Given the description of an element on the screen output the (x, y) to click on. 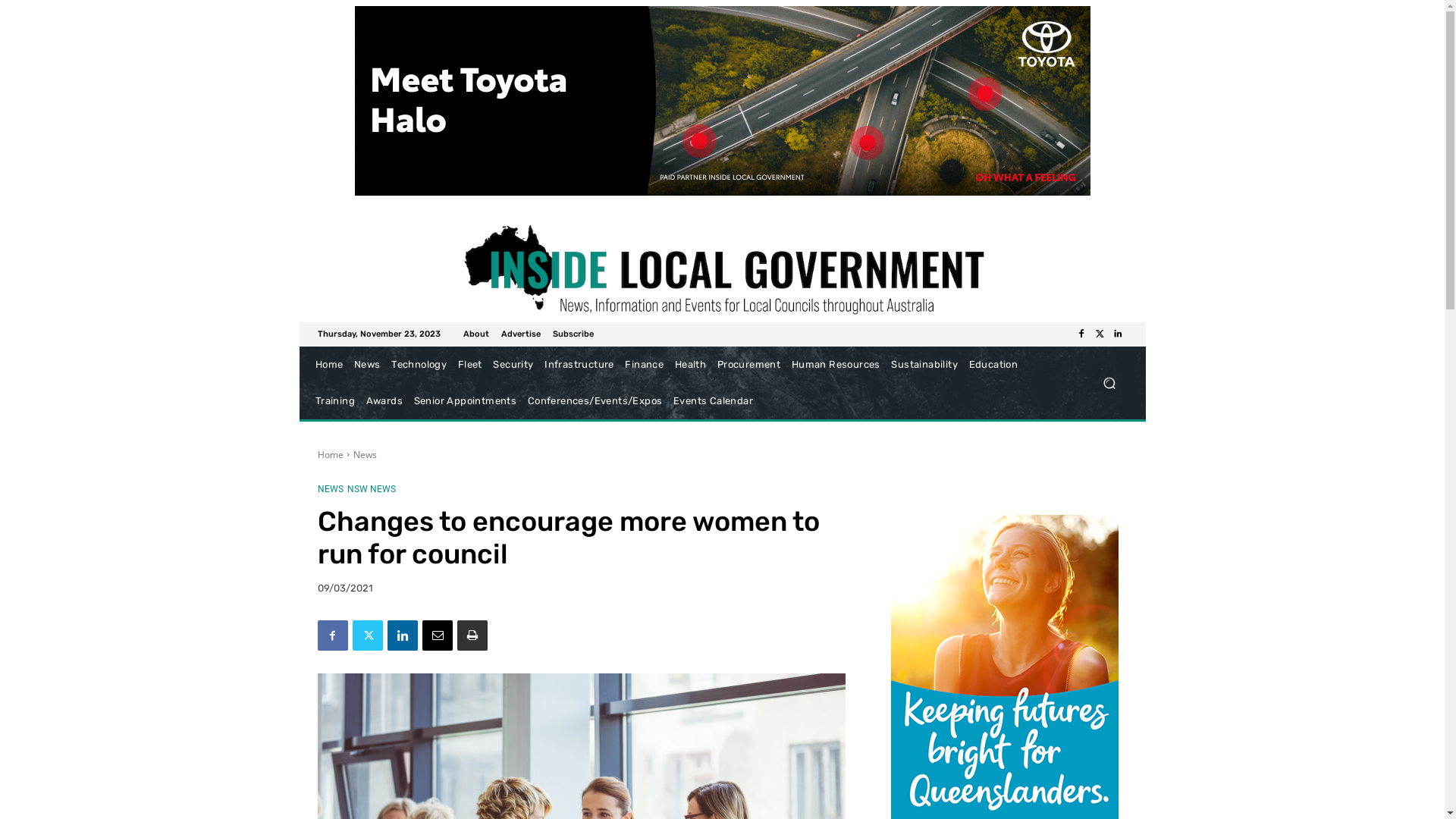
Email Element type: hover (436, 635)
Facebook Element type: hover (331, 635)
Technology Element type: text (418, 364)
Print Element type: hover (471, 635)
Twitter Element type: hover (366, 635)
Senior Appointments Element type: text (464, 400)
Home Element type: text (329, 454)
News Element type: text (366, 364)
Advertise Element type: text (519, 333)
NEWS Element type: text (329, 488)
Awards Element type: text (383, 400)
Sustainability Element type: text (924, 364)
Education Element type: text (992, 364)
Facebook Element type: hover (1081, 334)
Security Element type: text (513, 364)
About Element type: text (475, 333)
Subscribe Element type: text (572, 333)
Training Element type: text (334, 400)
3rd party ad content Element type: hover (722, 100)
Events Calendar Element type: text (713, 400)
Twitter Element type: hover (1099, 334)
NSW NEWS Element type: text (371, 488)
Finance Element type: text (643, 364)
Linkedin Element type: hover (1117, 334)
Infrastructure Element type: text (579, 364)
Conferences/Events/Expos Element type: text (594, 400)
Home Element type: text (328, 364)
Linkedin Element type: hover (401, 635)
Procurement Element type: text (748, 364)
Fleet Element type: text (469, 364)
News Element type: text (364, 454)
Human Resources Element type: text (835, 364)
Health Element type: text (689, 364)
